Given the description of an element on the screen output the (x, y) to click on. 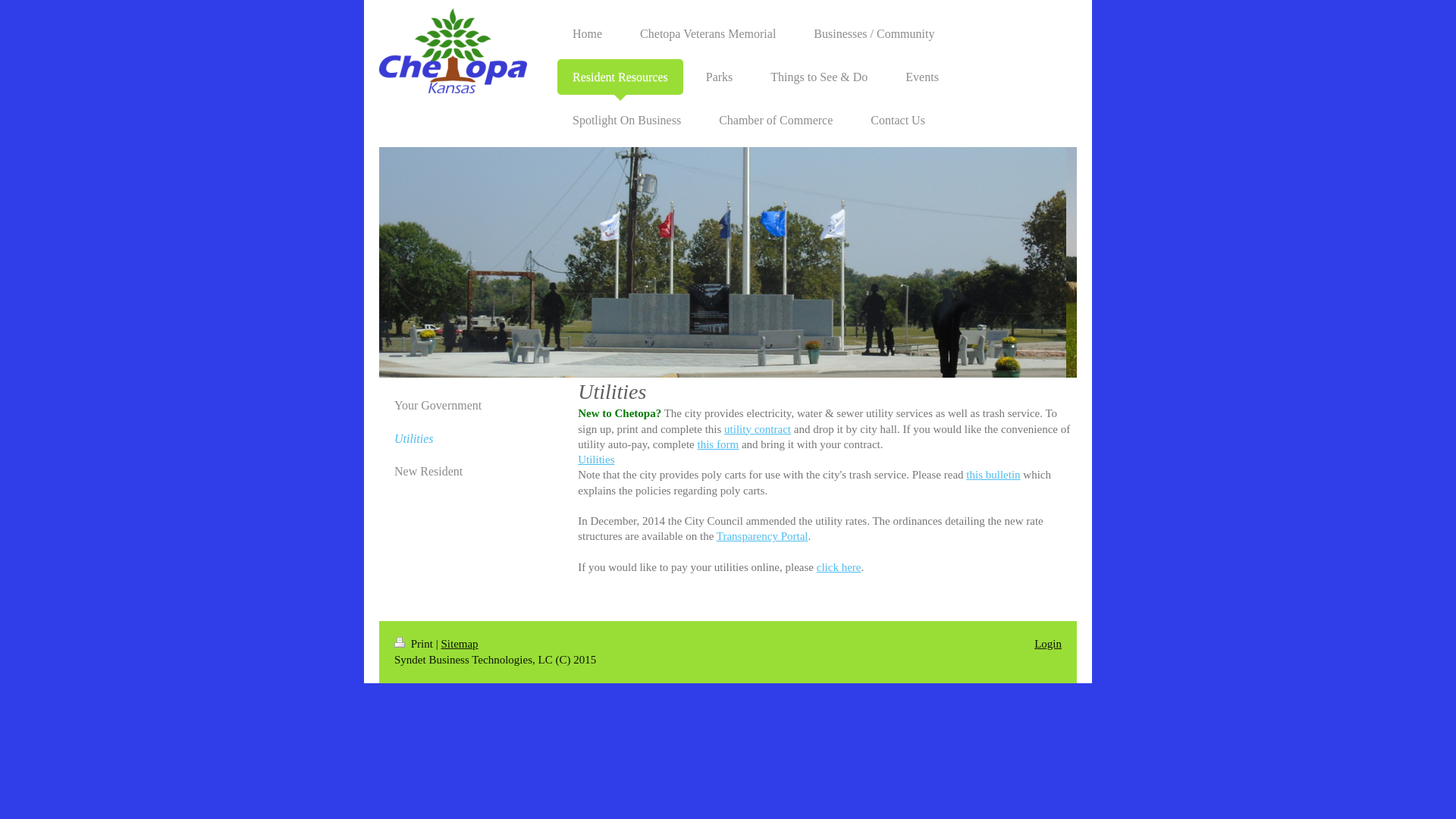
Chetopa Veterans Memorial (707, 33)
this form (718, 444)
Parks (719, 76)
Events (921, 76)
Chamber of Commerce (775, 120)
Resident Resources (619, 76)
Spotlight On Business (626, 120)
Contact Us (898, 120)
utility contra (753, 428)
Home (587, 33)
